Given the description of an element on the screen output the (x, y) to click on. 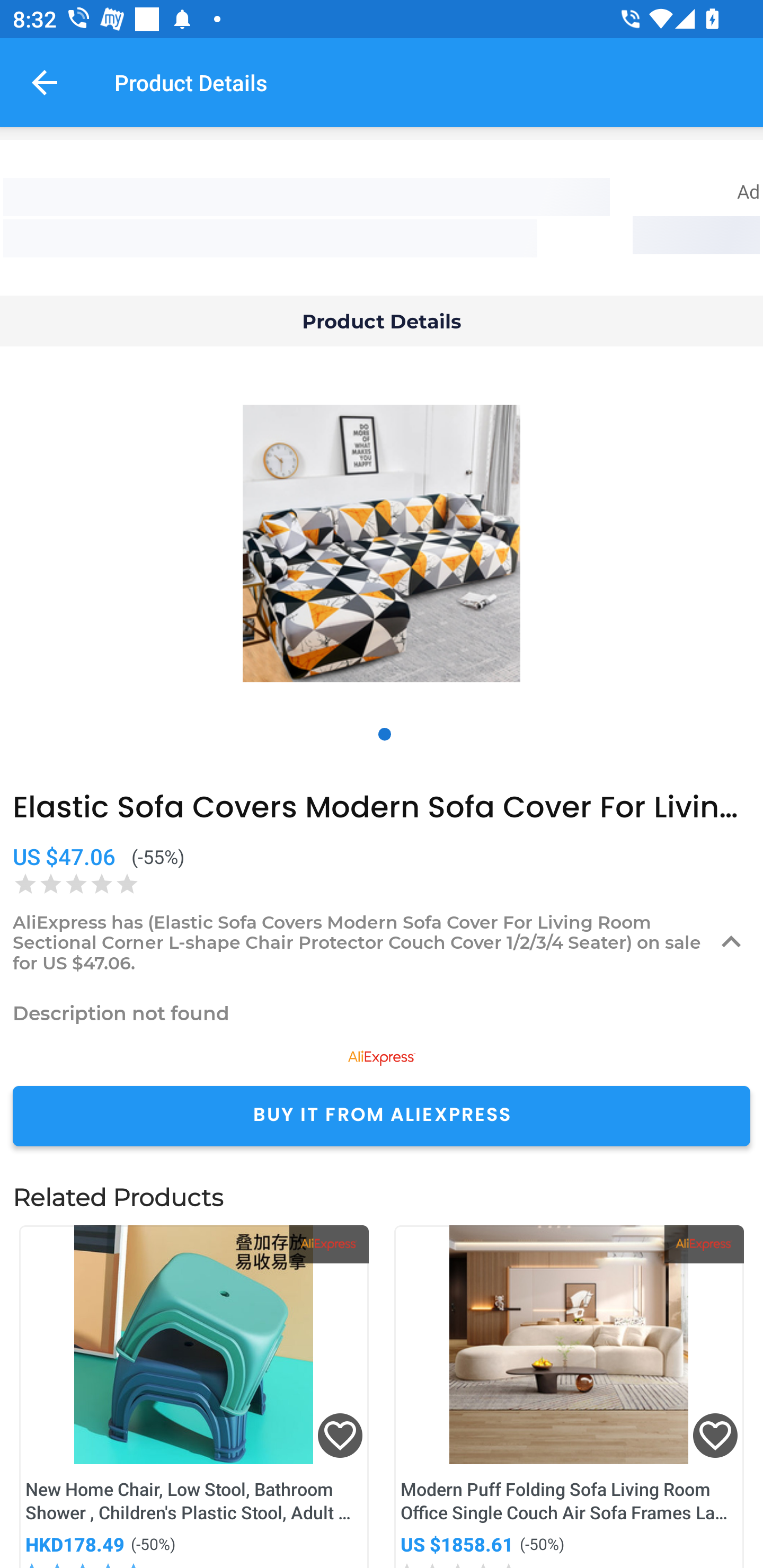
Navigate up (44, 82)
Description not found (381, 1012)
BUY IT FROM ALIEXPRESS (381, 1115)
